Given the description of an element on the screen output the (x, y) to click on. 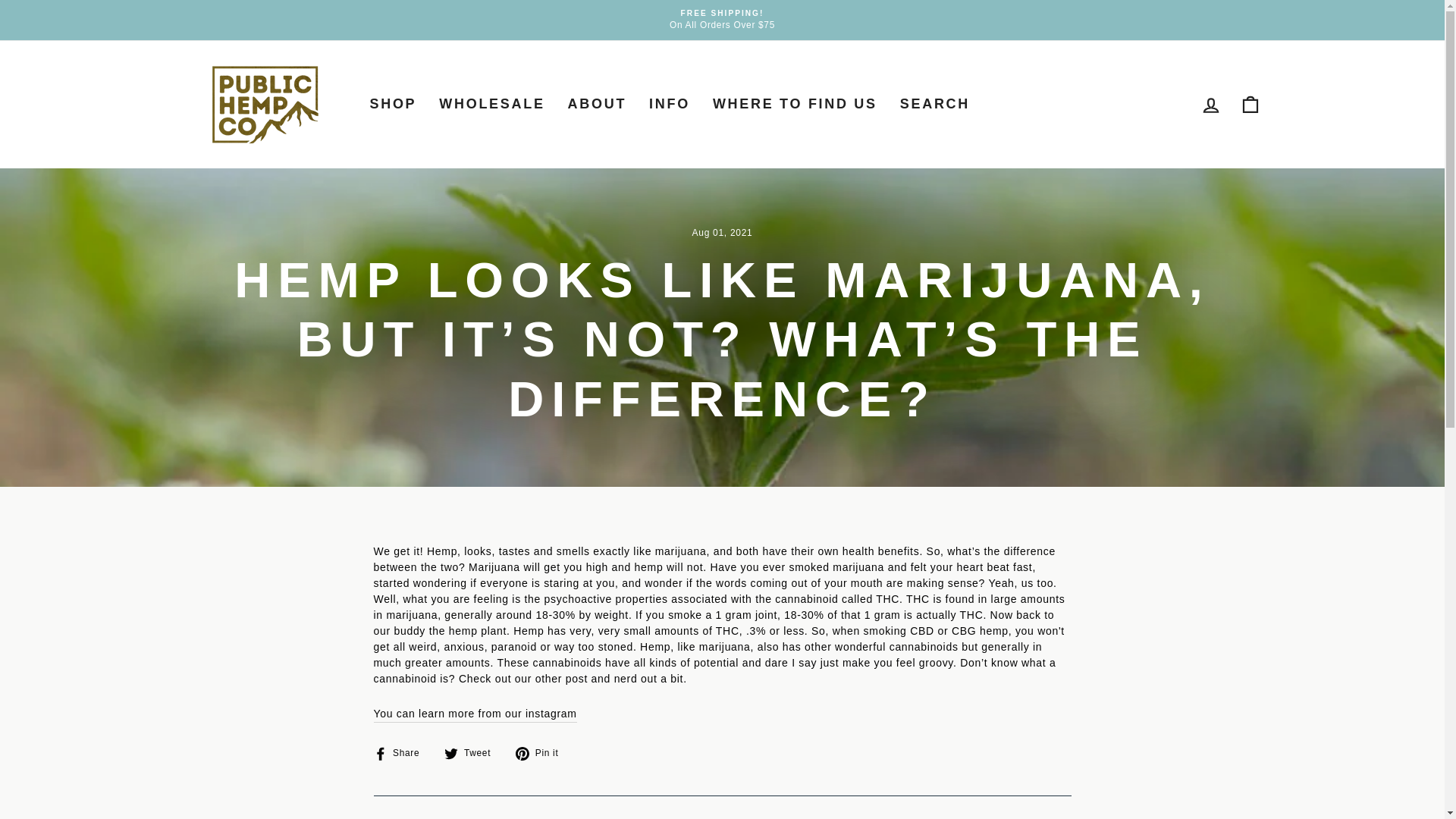
Tweet on Twitter (473, 753)
SHOP (393, 104)
Share on Facebook (401, 753)
Pin on Pinterest (542, 753)
